Given the description of an element on the screen output the (x, y) to click on. 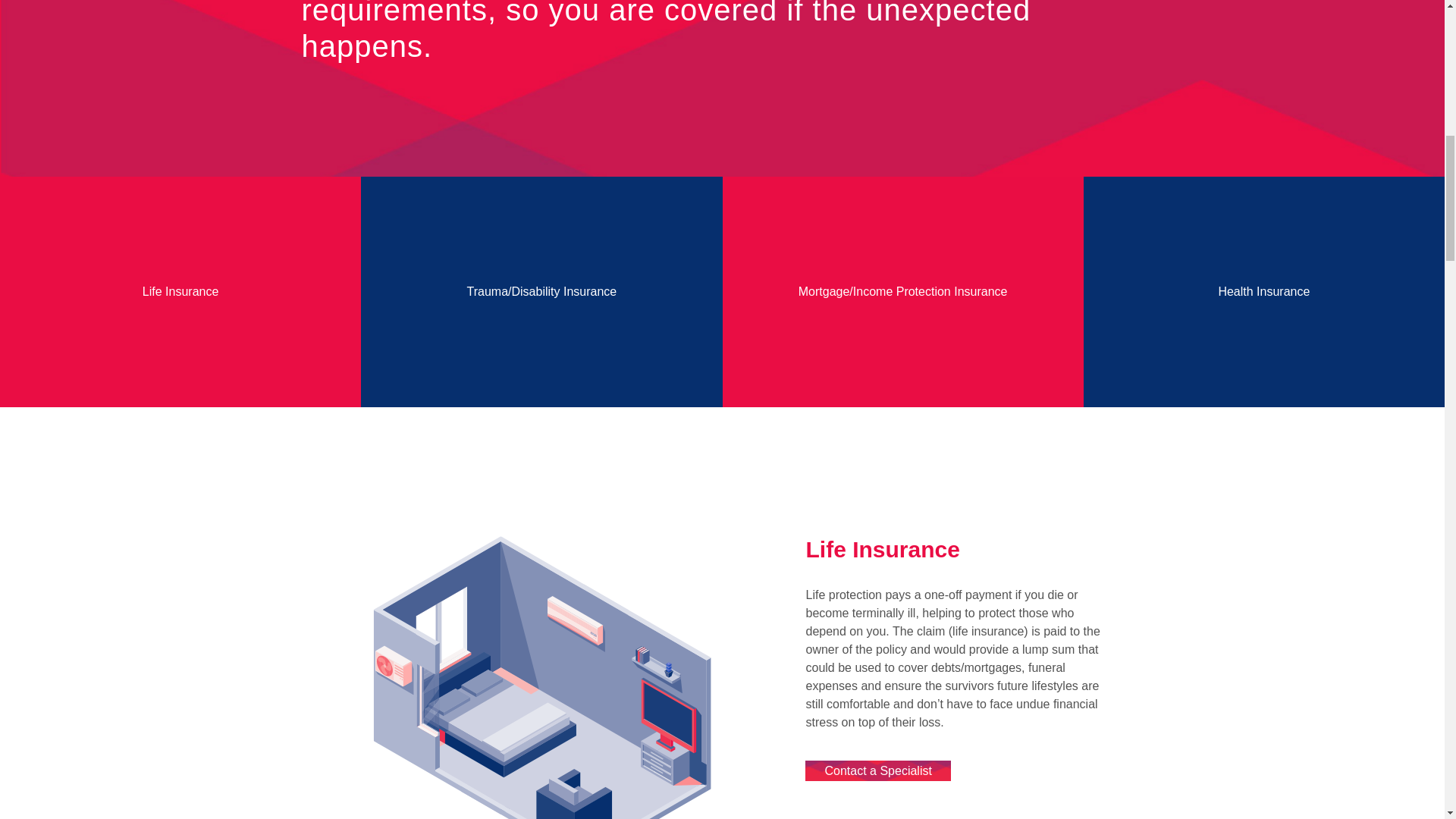
Life Insurance (180, 291)
Health Insurance (1262, 291)
